Given the description of an element on the screen output the (x, y) to click on. 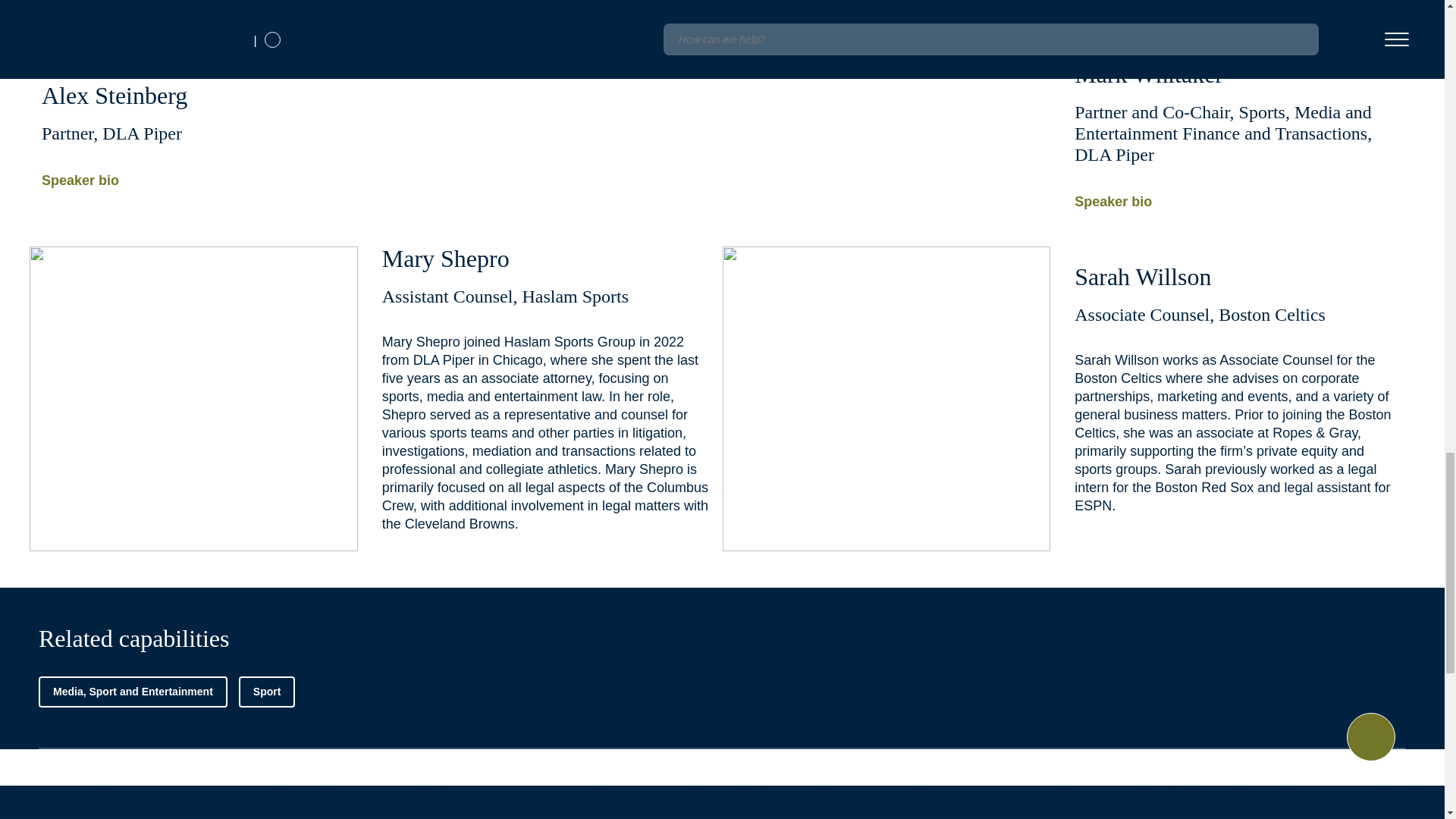
Media, Sport and Entertainment (133, 691)
Sport (266, 691)
Speaker bio (205, 179)
Speaker bio (545, 15)
Speaker bio (1238, 15)
Speaker bio (1238, 199)
